Given the description of an element on the screen output the (x, y) to click on. 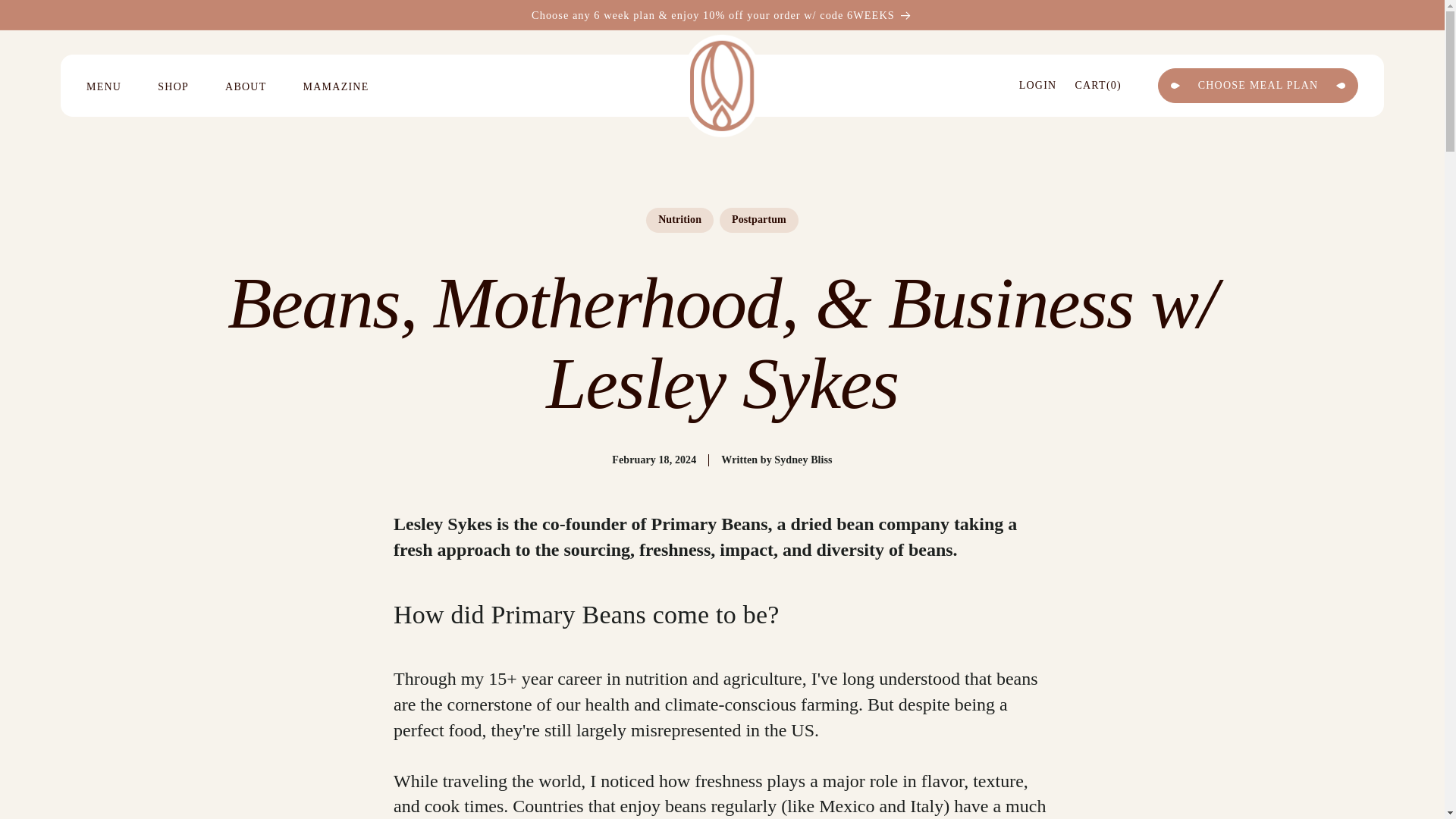
Nutrition (679, 220)
Postpartum (758, 220)
MAMAZINE (354, 86)
CHOOSE MEAL PLAN (1257, 85)
SHOP (191, 86)
MENU (121, 86)
ABOUT (263, 86)
Skip to content (1038, 85)
